Given the description of an element on the screen output the (x, y) to click on. 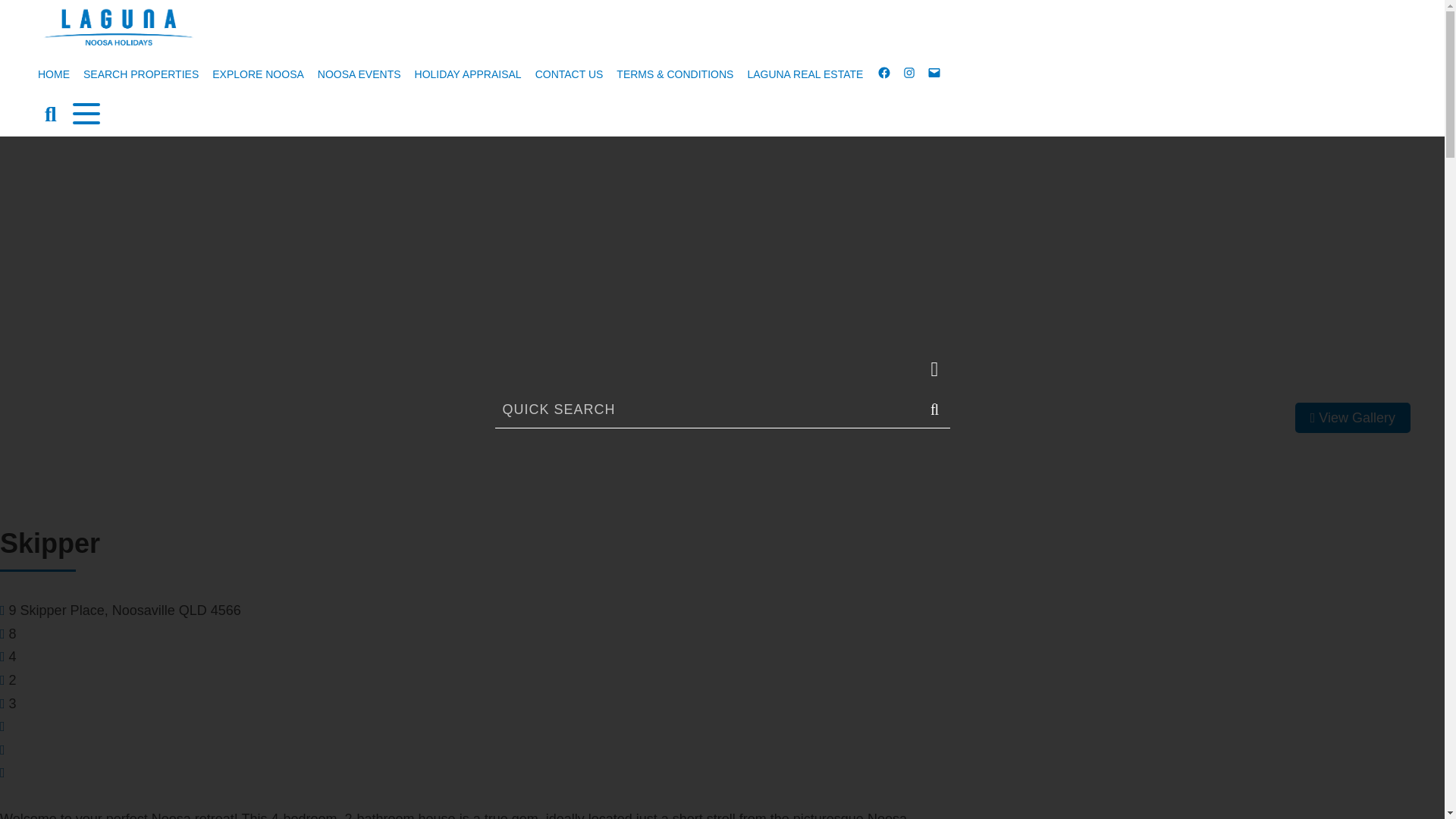
EXPLORE NOOSA (258, 73)
CONTACT US (569, 73)
View Gallery (1352, 417)
LAGUNA REAL ESTATE (804, 73)
NOOSA EVENTS (359, 73)
HOME (53, 73)
HOLIDAY APPRAISAL (467, 73)
SEARCH PROPERTIES (141, 73)
